Given the description of an element on the screen output the (x, y) to click on. 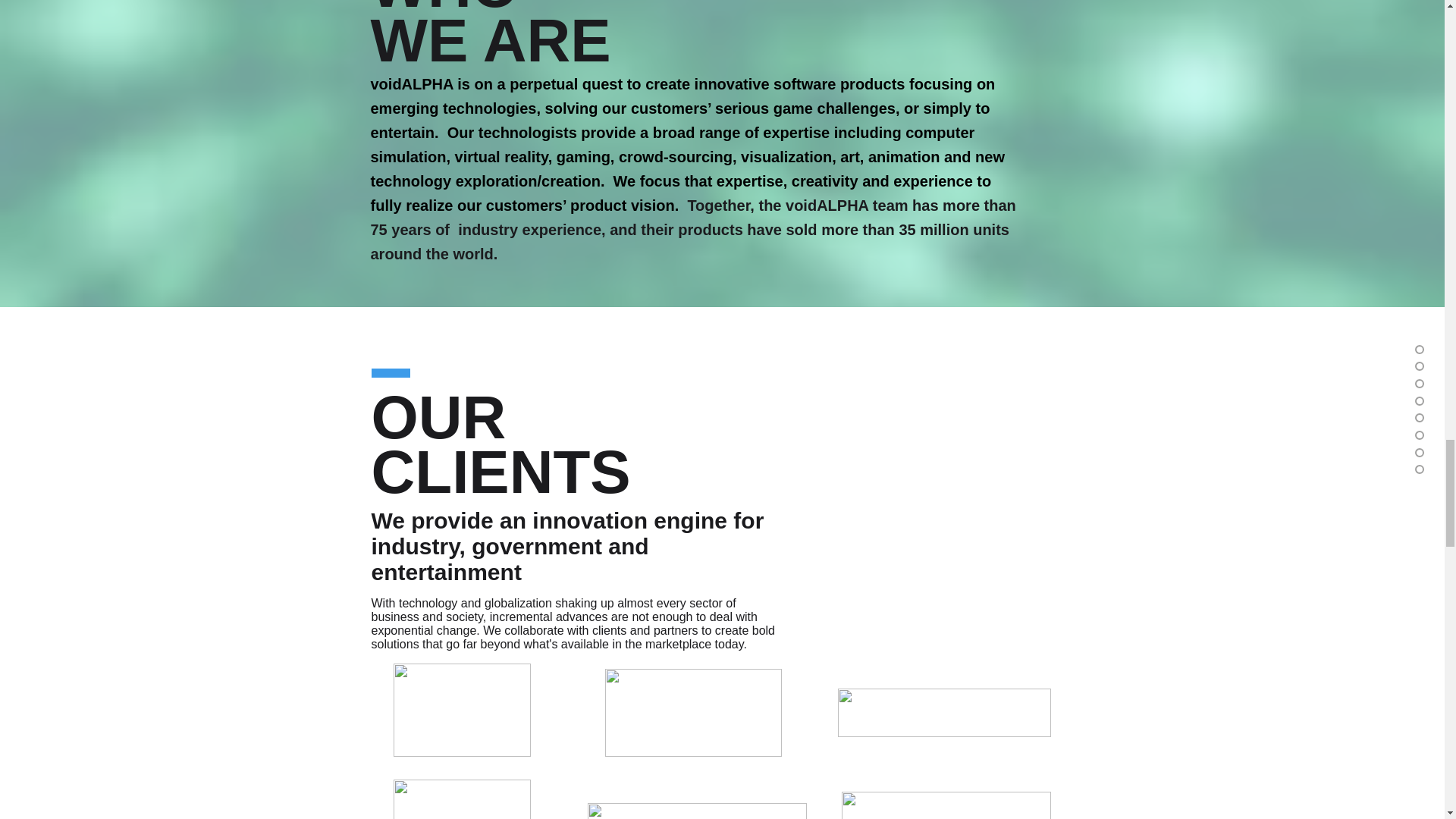
galois logo.png (696, 811)
Intel-Logo.png (461, 709)
Darpa.png (693, 712)
Disney-Interactive-Logo.png (461, 799)
